Given the description of an element on the screen output the (x, y) to click on. 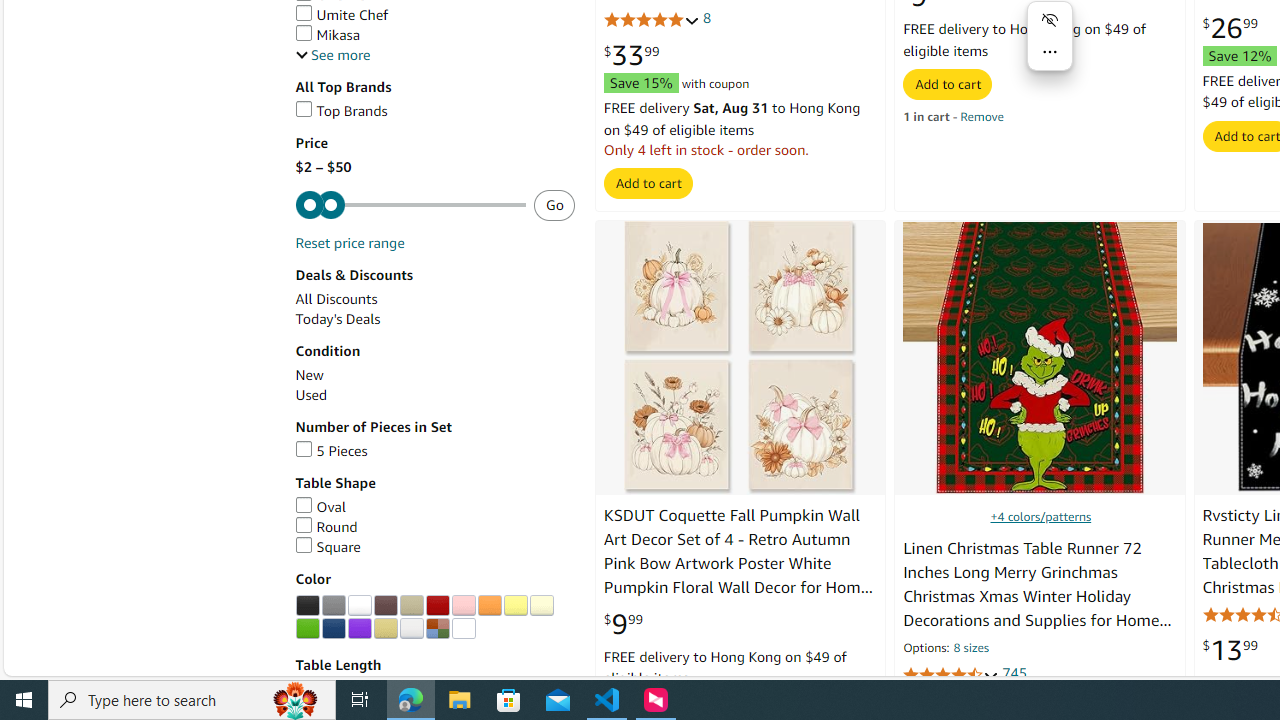
Today's Deals (434, 319)
4.8 out of 5 stars (651, 20)
Umite Chef (434, 15)
Mikasa (327, 34)
Red (437, 605)
Maximum (410, 205)
8 sizes (970, 649)
AutomationID: p_n_feature_twenty_browse-bin/3254103011 (437, 605)
AutomationID: p_n_feature_twenty_browse-bin/3254101011 (385, 605)
AutomationID: p_n_feature_twenty_browse-bin/3254112011 (411, 628)
White (359, 605)
Today's Deals (337, 319)
$33.99 (631, 56)
8 (706, 18)
